Given the description of an element on the screen output the (x, y) to click on. 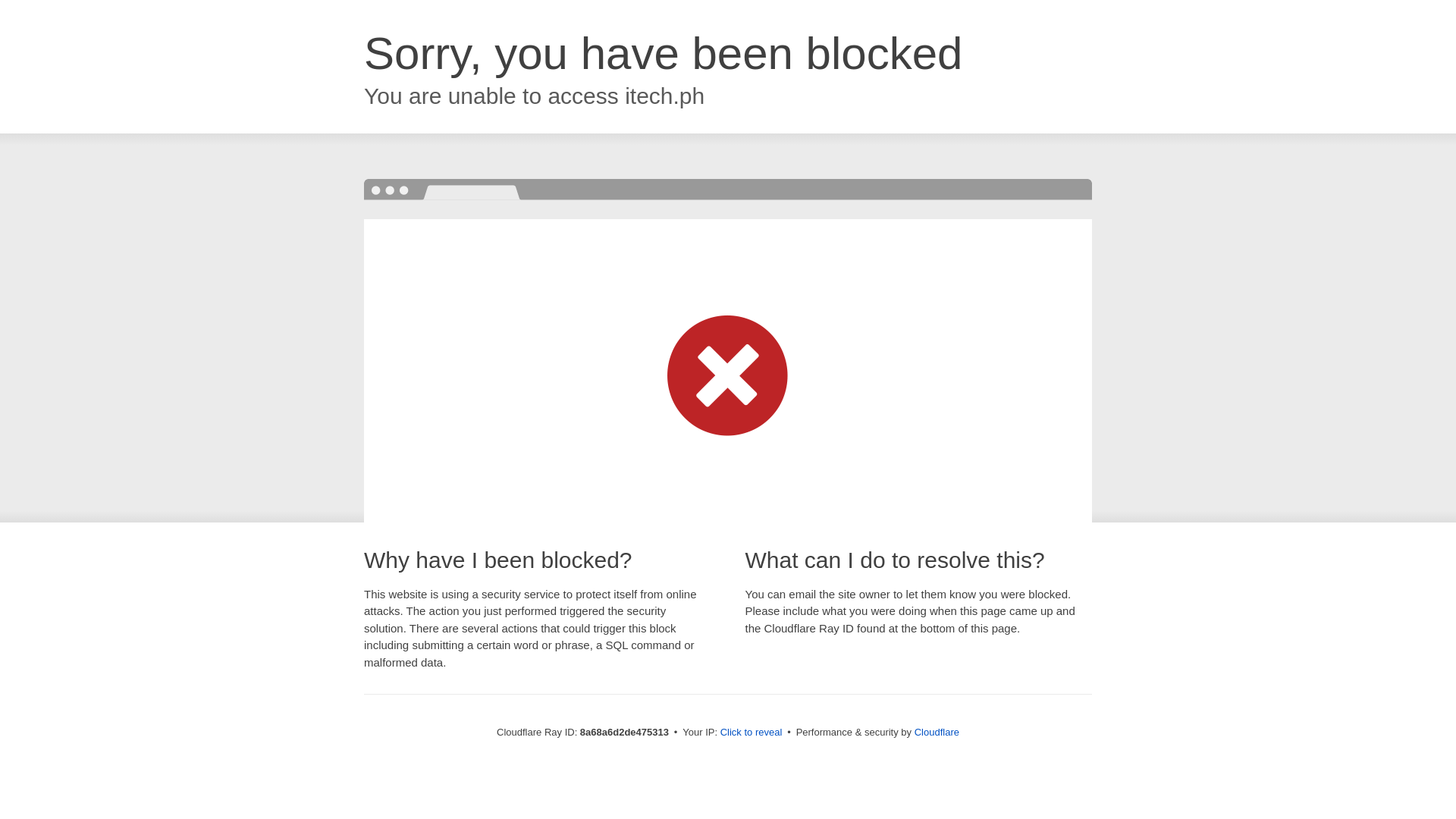
Click to reveal (751, 732)
Cloudflare (936, 731)
